Given the description of an element on the screen output the (x, y) to click on. 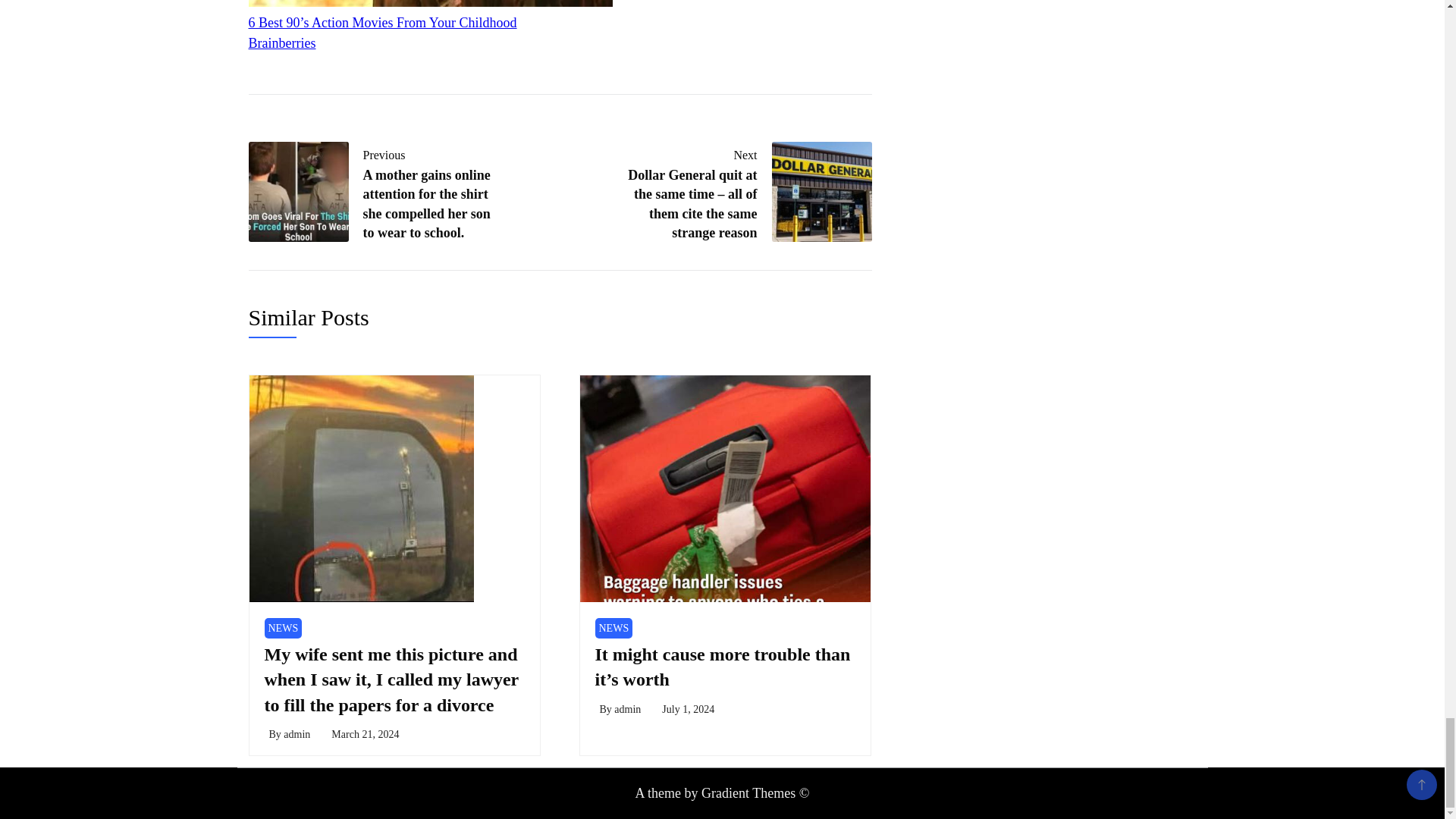
March 21, 2024 (364, 734)
NEWS (612, 628)
July 1, 2024 (688, 708)
admin (627, 708)
admin (296, 734)
NEWS (282, 628)
